Given the description of an element on the screen output the (x, y) to click on. 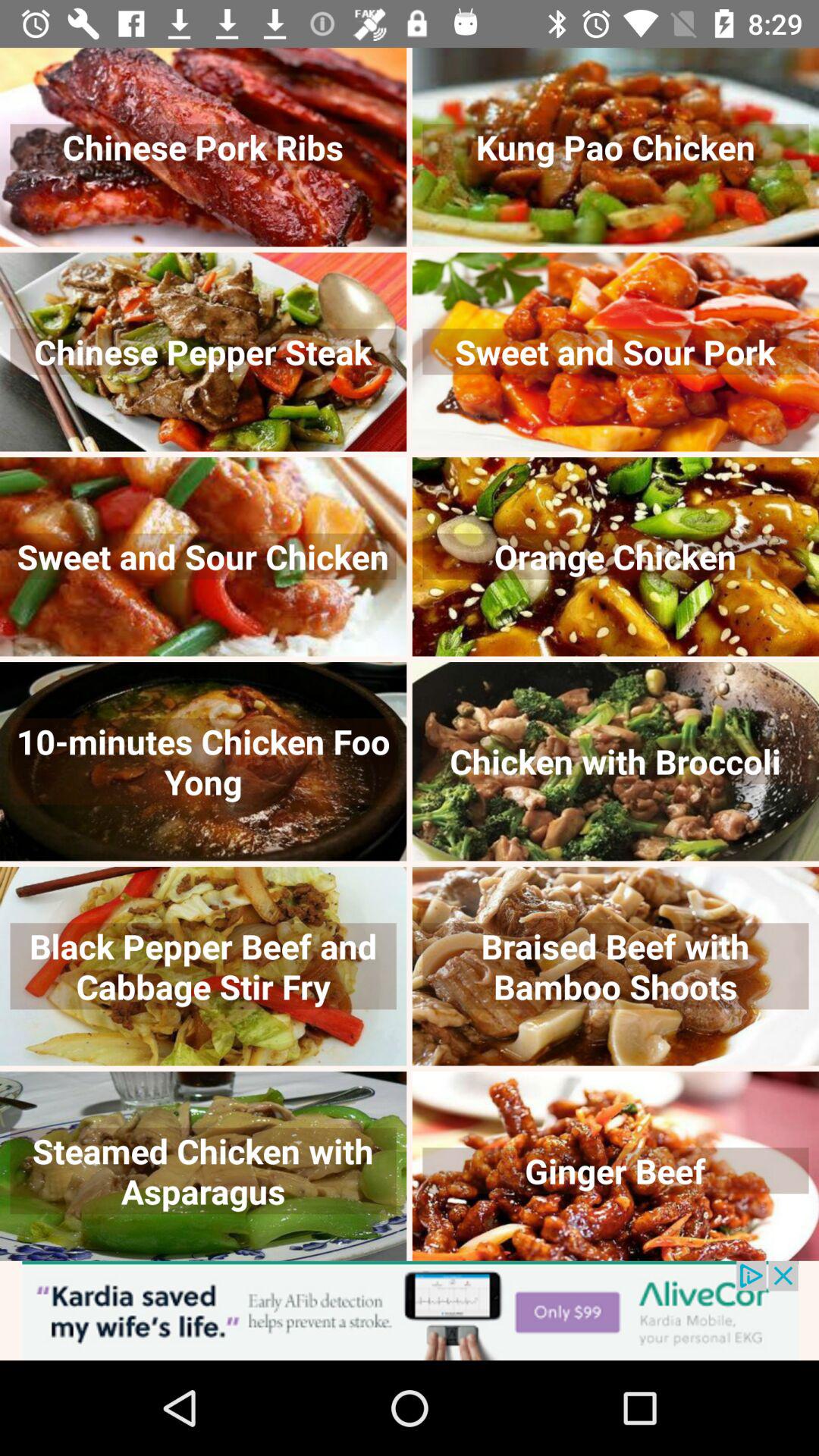
click advertisement (409, 1310)
